Given the description of an element on the screen output the (x, y) to click on. 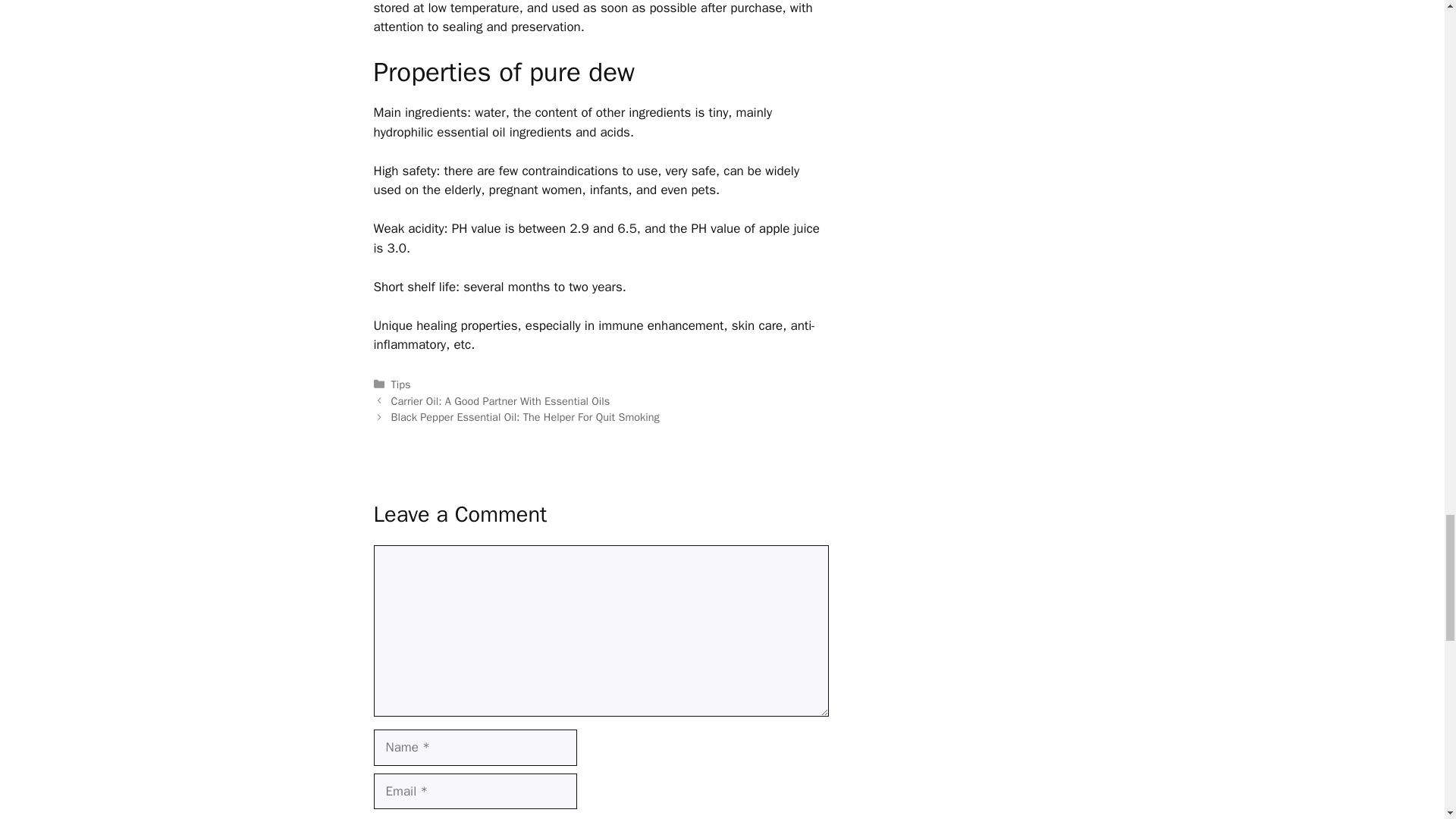
Post Comment (432, 18)
Privacy Policy (923, 473)
Disclosure (1005, 473)
About (856, 473)
Post Comment (432, 18)
Contact Us (333, 404)
